Given the description of an element on the screen output the (x, y) to click on. 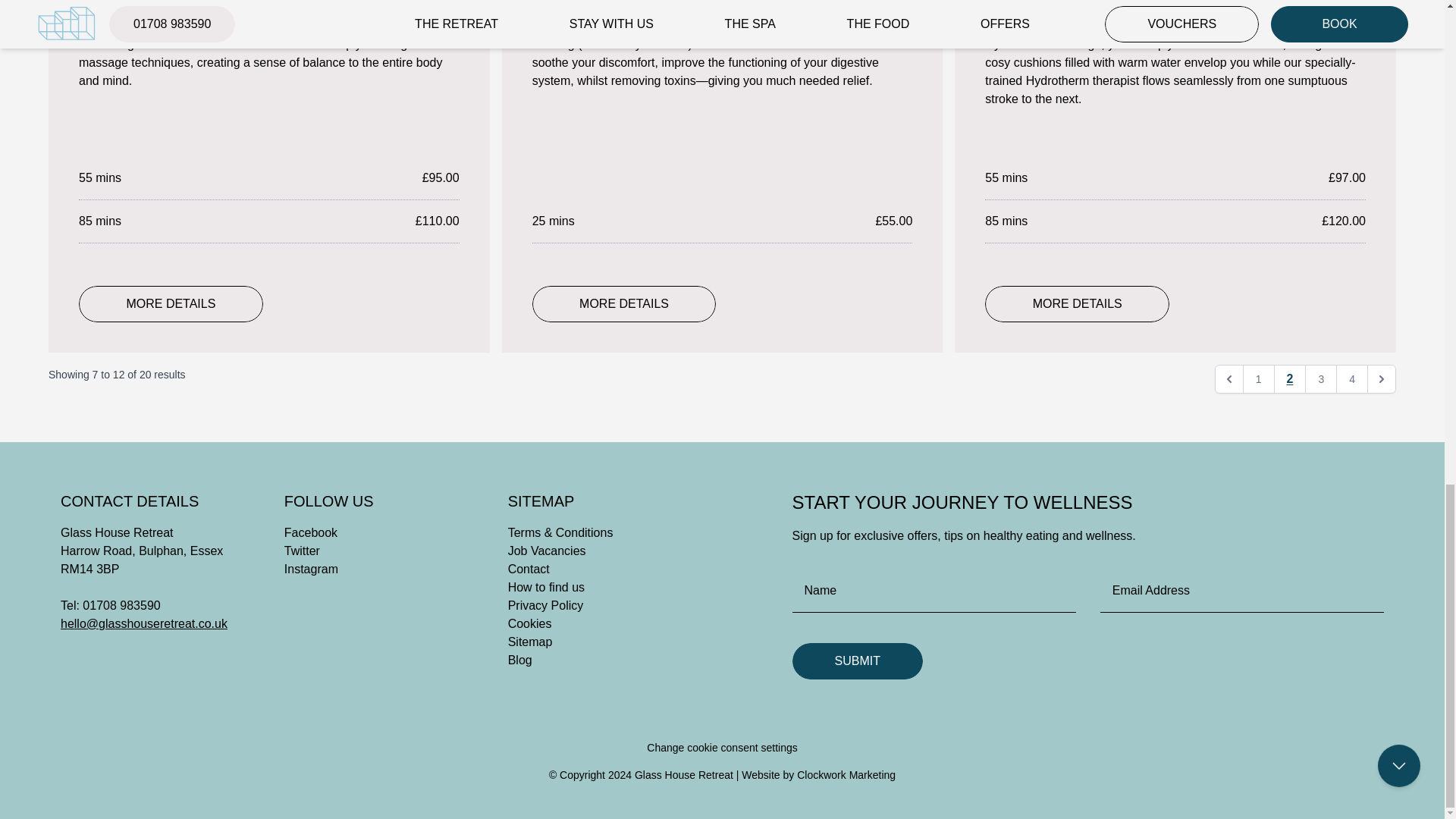
Instagram (310, 569)
Clockwork Marketing (845, 775)
Twitter (301, 551)
Facebook (310, 533)
